Given the description of an element on the screen output the (x, y) to click on. 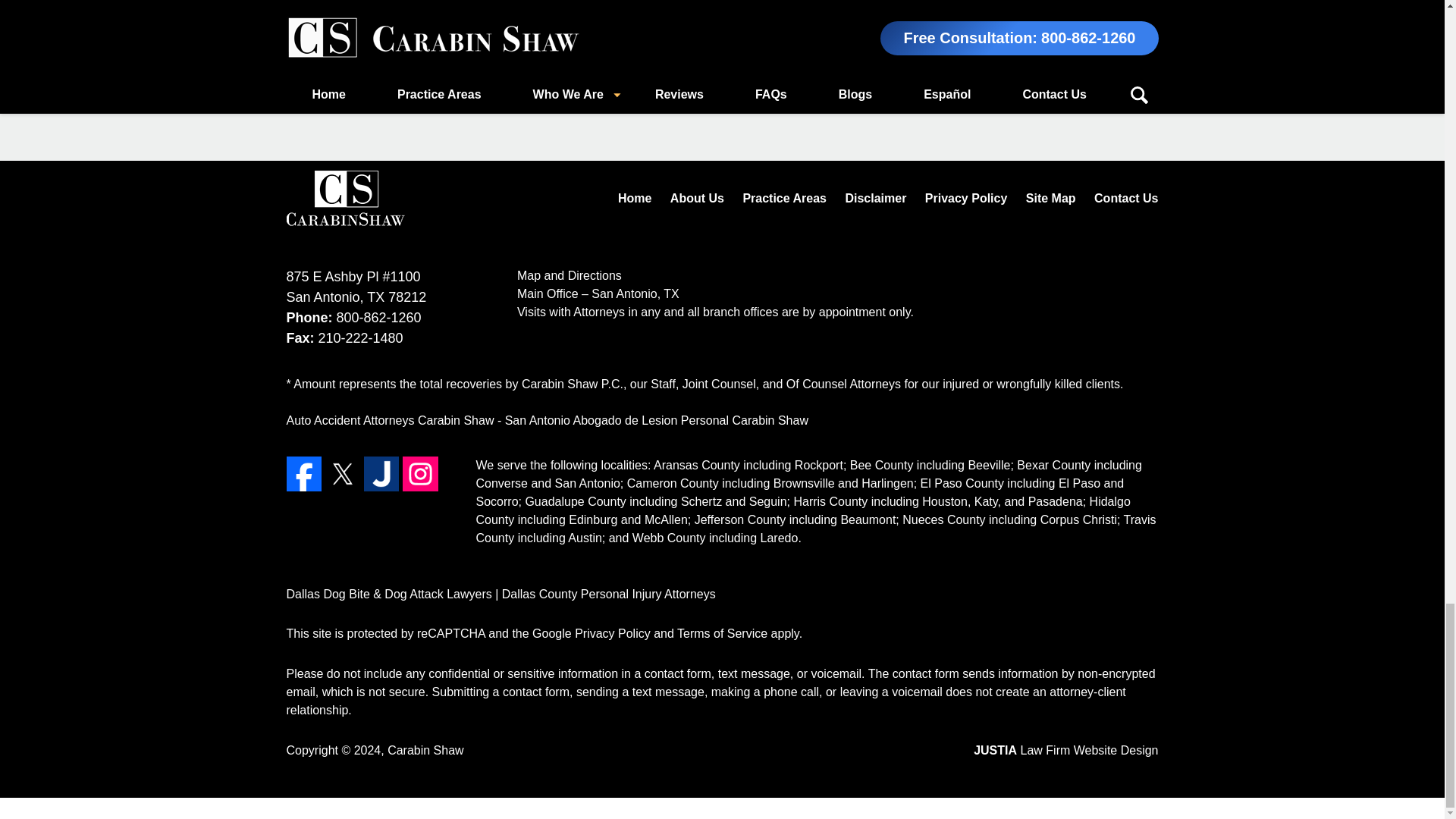
Justia (381, 473)
Instagram (420, 473)
Twitter (341, 473)
Facebook (303, 473)
